Given the description of an element on the screen output the (x, y) to click on. 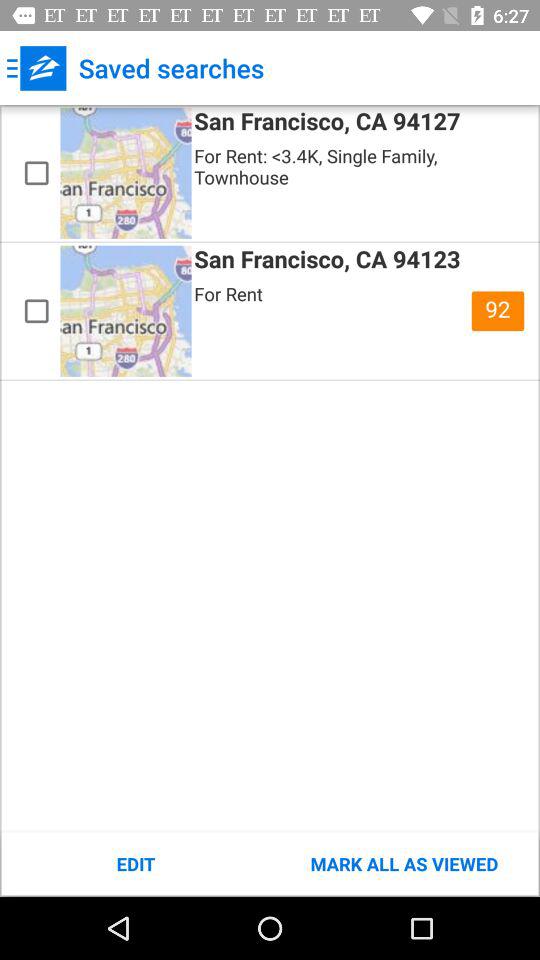
swipe until the mark all as (404, 863)
